Given the description of an element on the screen output the (x, y) to click on. 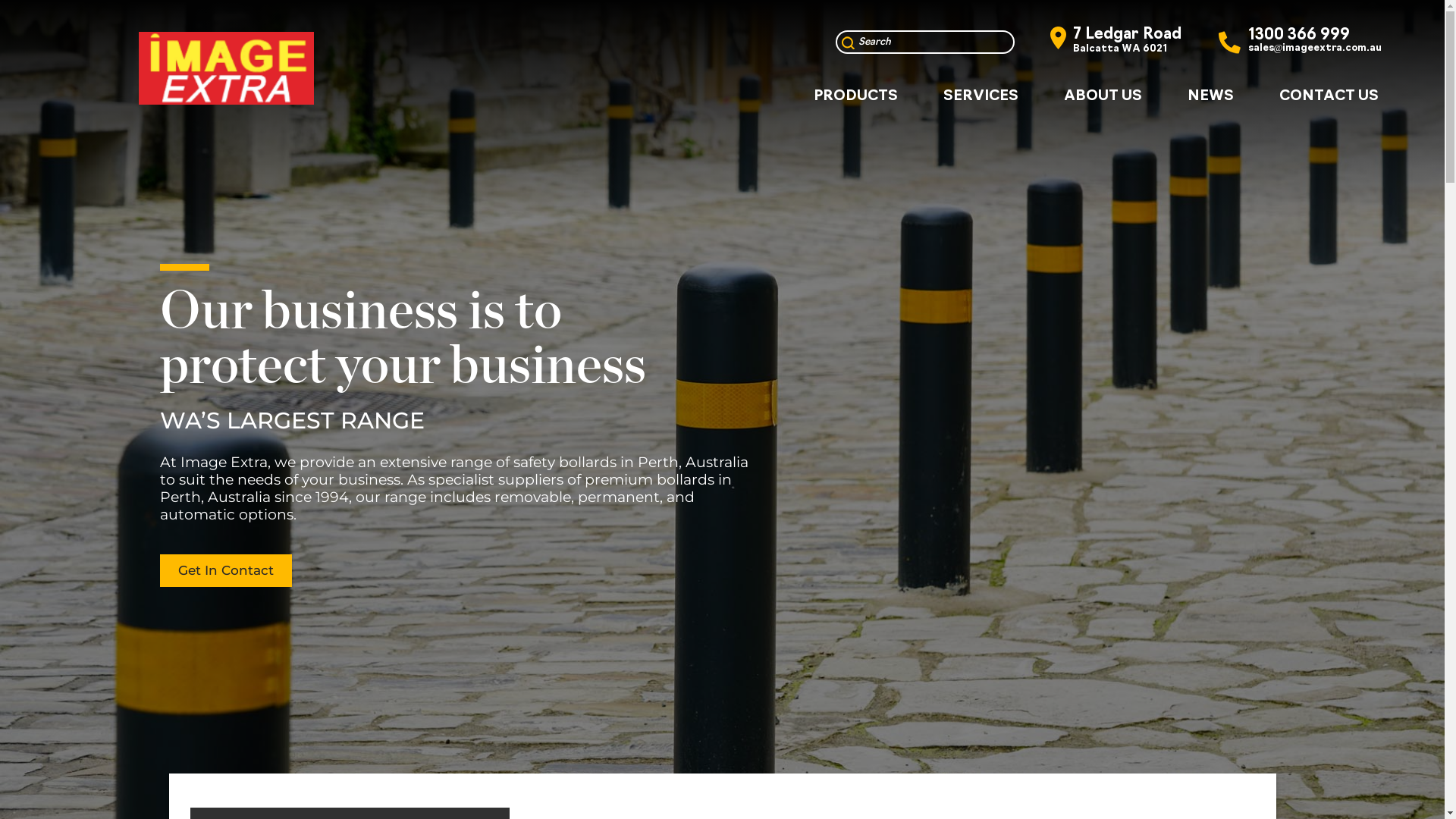
SERVICES Element type: text (980, 94)
NEWS Element type: text (1210, 94)
1300 366 999 Element type: text (1298, 35)
PRODUCTS Element type: text (854, 94)
sales@imageextra.com.au Element type: text (1315, 48)
Get In Contact Element type: text (225, 570)
ABOUT US Element type: text (1102, 94)
CONTACT US Element type: text (1327, 94)
